Given the description of an element on the screen output the (x, y) to click on. 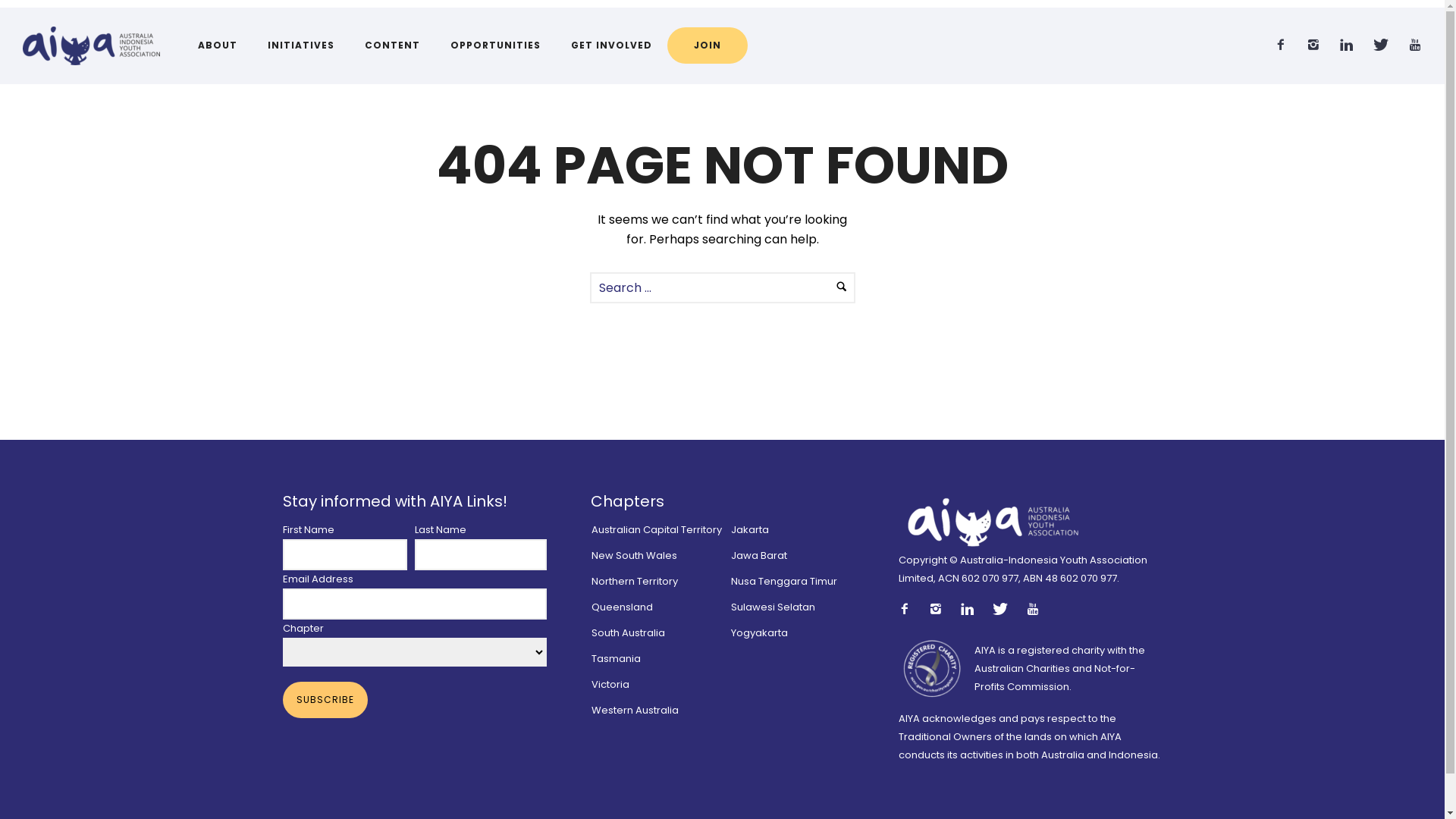
Sulawesi Selatan Element type: text (773, 606)
Nusa Tenggara Timur Element type: text (784, 581)
INITIATIVES Element type: text (300, 45)
GET INVOLVED Element type: text (611, 45)
Northern Territory Element type: text (634, 581)
JOIN Element type: text (707, 45)
Subscribe Element type: text (324, 699)
Jakarta Element type: text (749, 529)
Queensland Element type: text (621, 606)
Victoria Element type: text (610, 684)
Yogyakarta Element type: text (759, 632)
Jawa Barat Element type: text (759, 555)
South Australia Element type: text (628, 632)
CONTENT Element type: text (392, 45)
ABOUT Element type: text (217, 45)
Tasmania Element type: text (615, 658)
Western Australia Element type: text (634, 709)
Australian Capital Territory Element type: text (656, 529)
OPPORTUNITIES Element type: text (495, 45)
New South Wales Element type: text (634, 555)
